Given the description of an element on the screen output the (x, y) to click on. 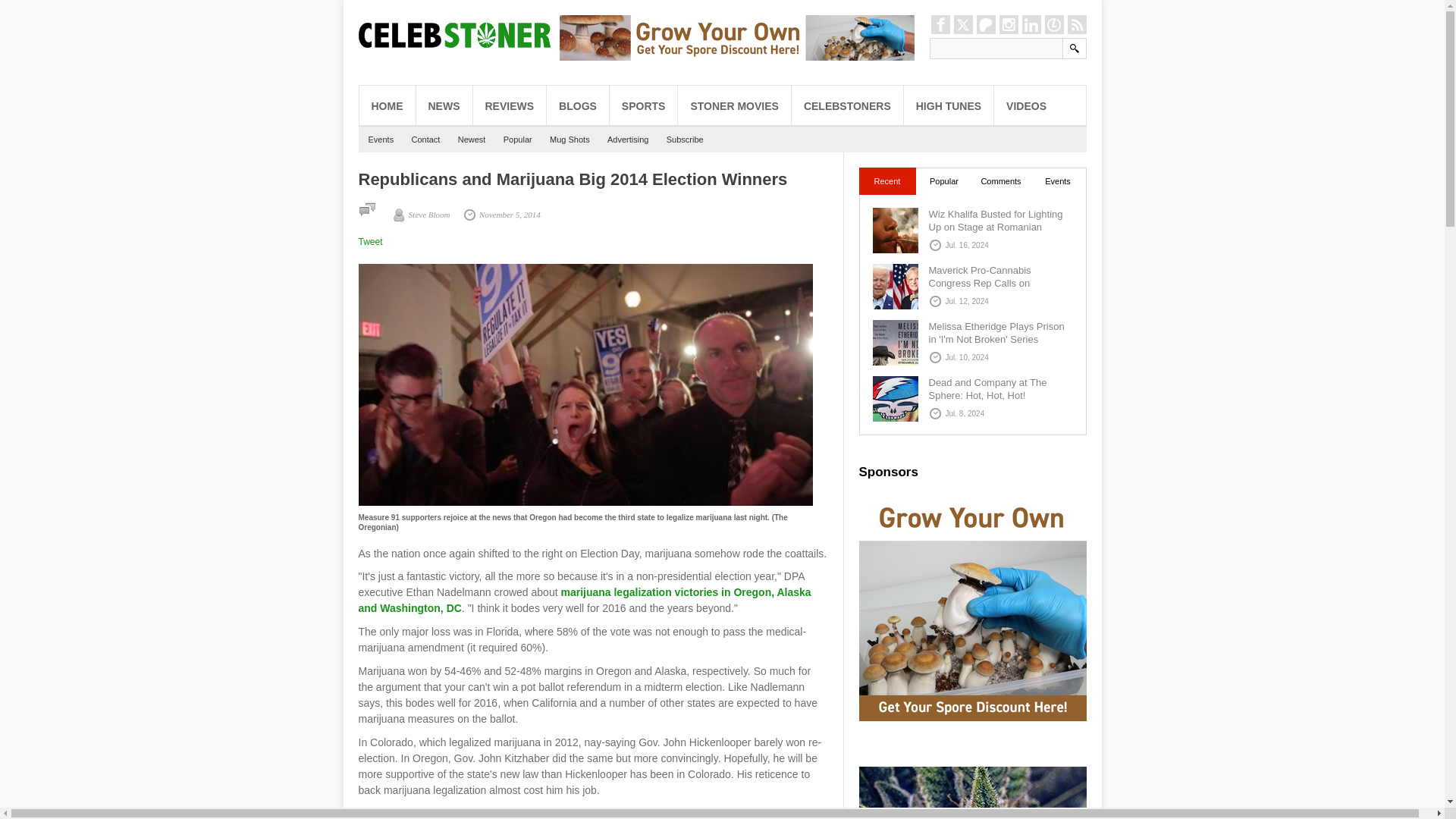
celebstoner.com (584, 600)
BLOGS (577, 105)
HOME (386, 105)
NEWS (442, 105)
SPORTS (644, 105)
STONER MOVIES (734, 105)
CELEBSTONERS (847, 105)
REVIEWS (510, 105)
